Given the description of an element on the screen output the (x, y) to click on. 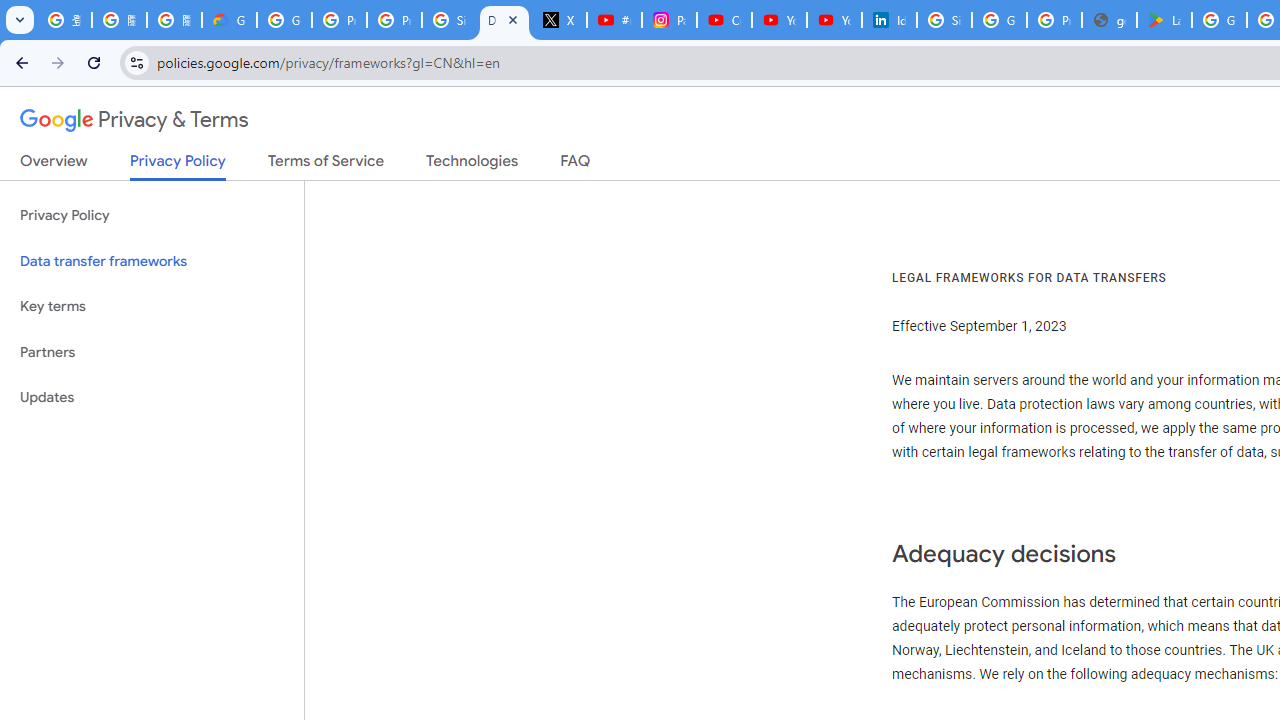
#nbabasketballhighlights - YouTube (614, 20)
google_privacy_policy_en.pdf (1108, 20)
Privacy Help Center - Policies Help (339, 20)
